Given the description of an element on the screen output the (x, y) to click on. 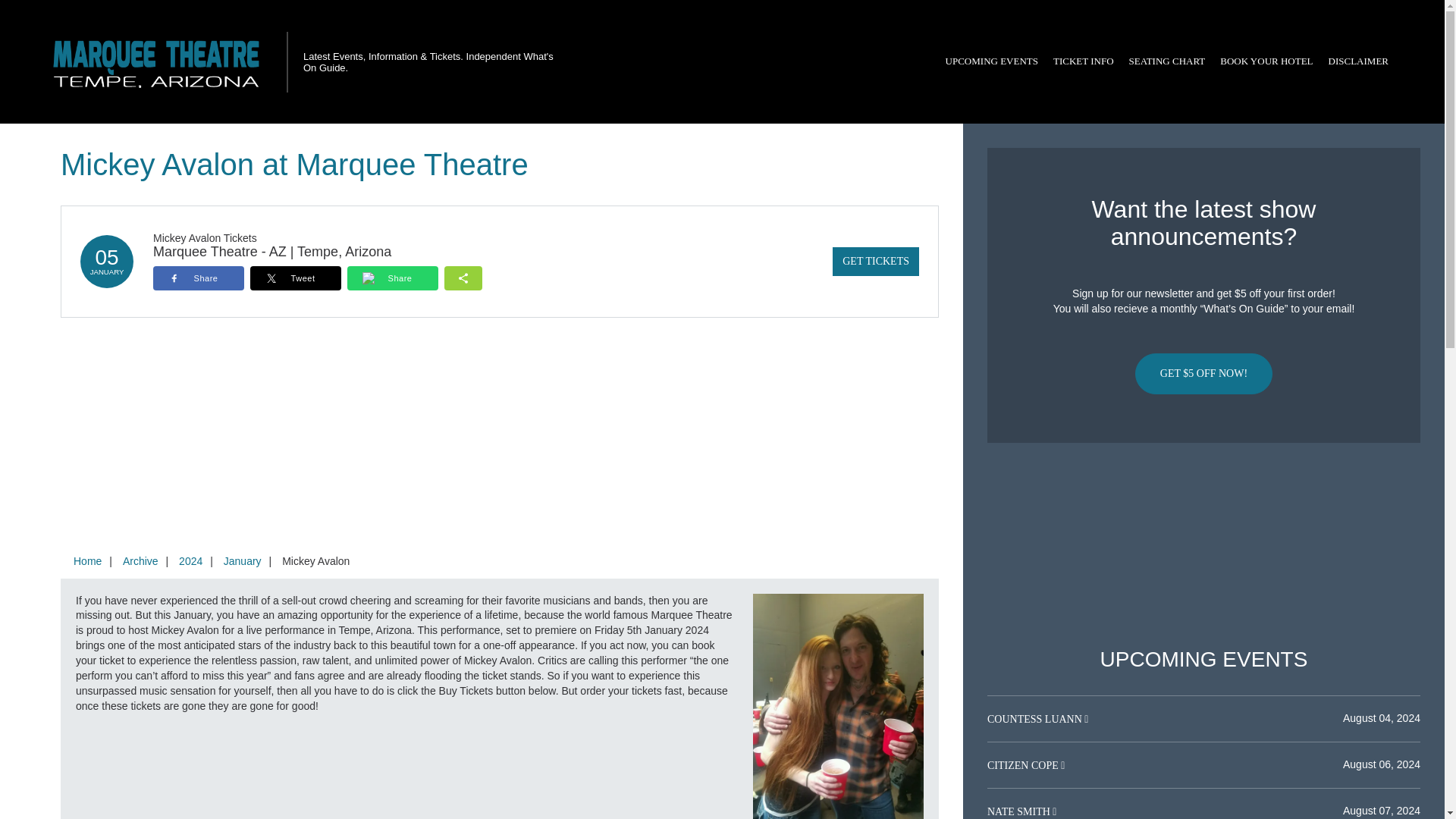
January (242, 561)
GET TICKETS (875, 261)
NATE SMITH (1019, 811)
UPCOMING EVENTS (991, 61)
2024 (190, 561)
Home (87, 561)
TICKET INFO (1083, 61)
BOOK YOUR HOTEL (1266, 61)
Advertisement (1204, 545)
Mickey Avalon Tickets (204, 237)
DISCLAIMER (1358, 61)
SEATING CHART (1166, 61)
Archive (140, 561)
